Given the description of an element on the screen output the (x, y) to click on. 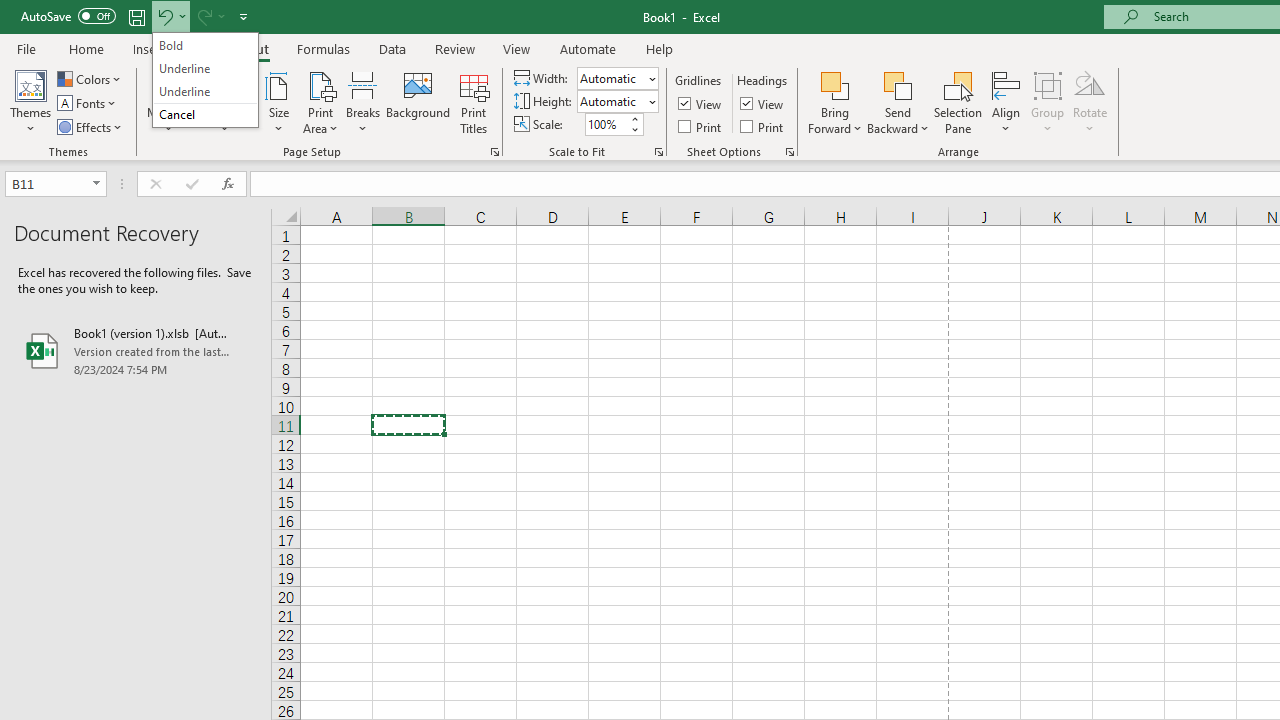
Width (611, 78)
Bring Forward (835, 84)
Align (1005, 102)
Send Backward (898, 102)
Background... (418, 102)
Sheet Options (789, 151)
Less (633, 129)
Page Setup (658, 151)
